Given the description of an element on the screen output the (x, y) to click on. 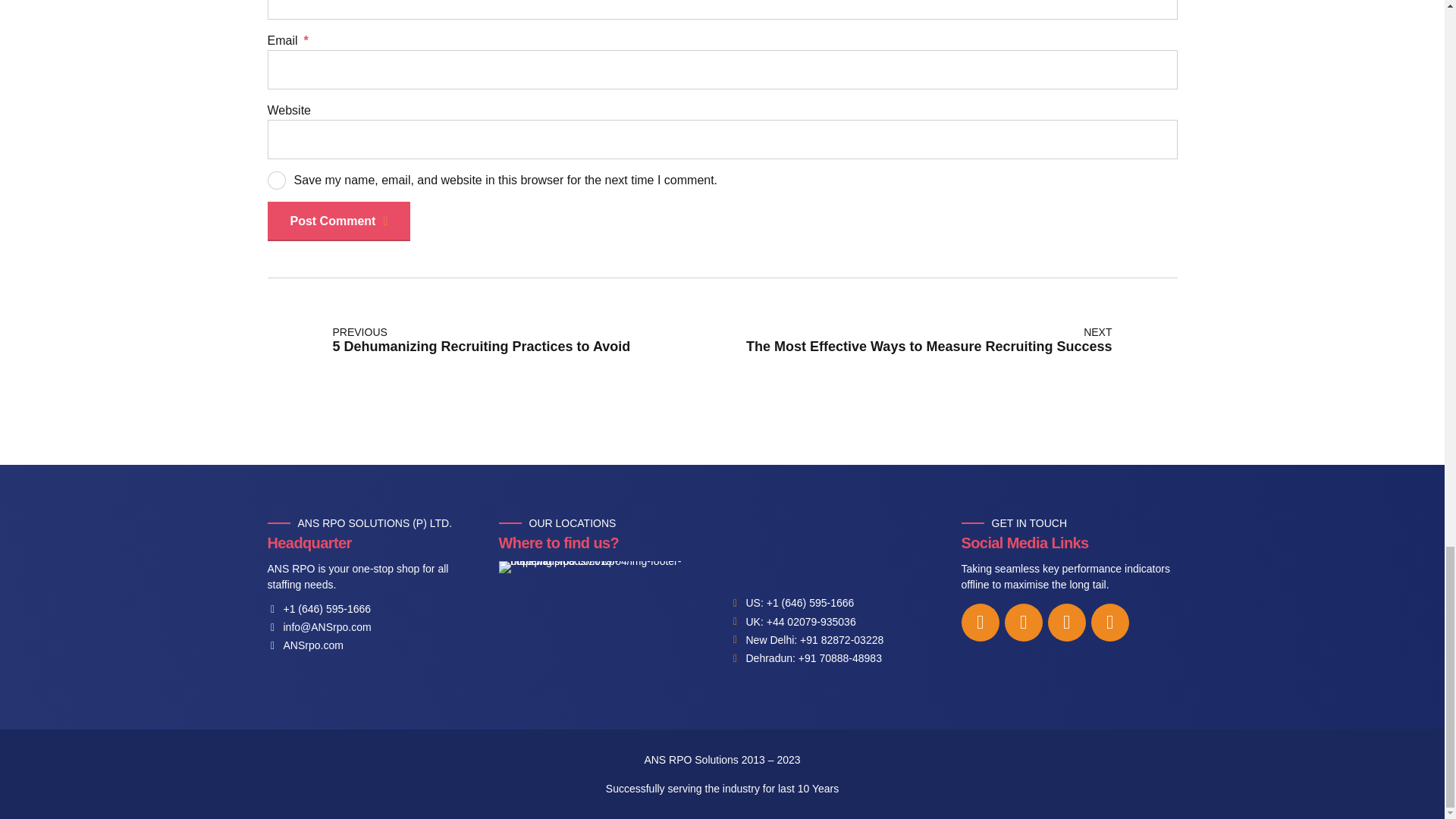
ANSrpo.com (304, 645)
yes (275, 180)
Post Comment (338, 220)
